Given the description of an element on the screen output the (x, y) to click on. 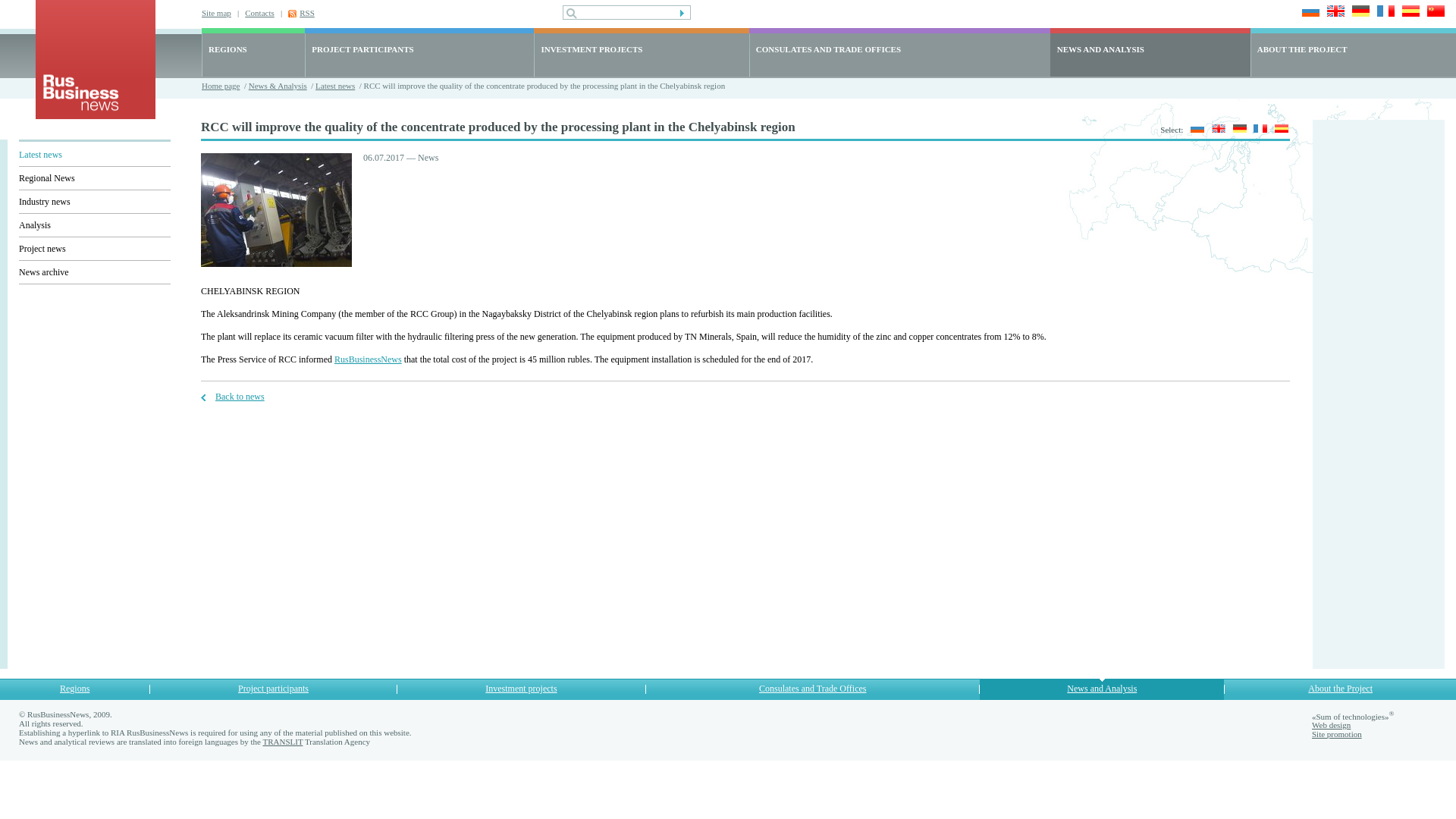
Latest news (335, 85)
Home page (221, 85)
Latest news (40, 154)
RSS (306, 11)
Project participants (273, 688)
News and Analysis (1102, 688)
English language (1332, 11)
Analysis (34, 225)
Regional News (46, 177)
RusBusinessNews (367, 358)
